Given the description of an element on the screen output the (x, y) to click on. 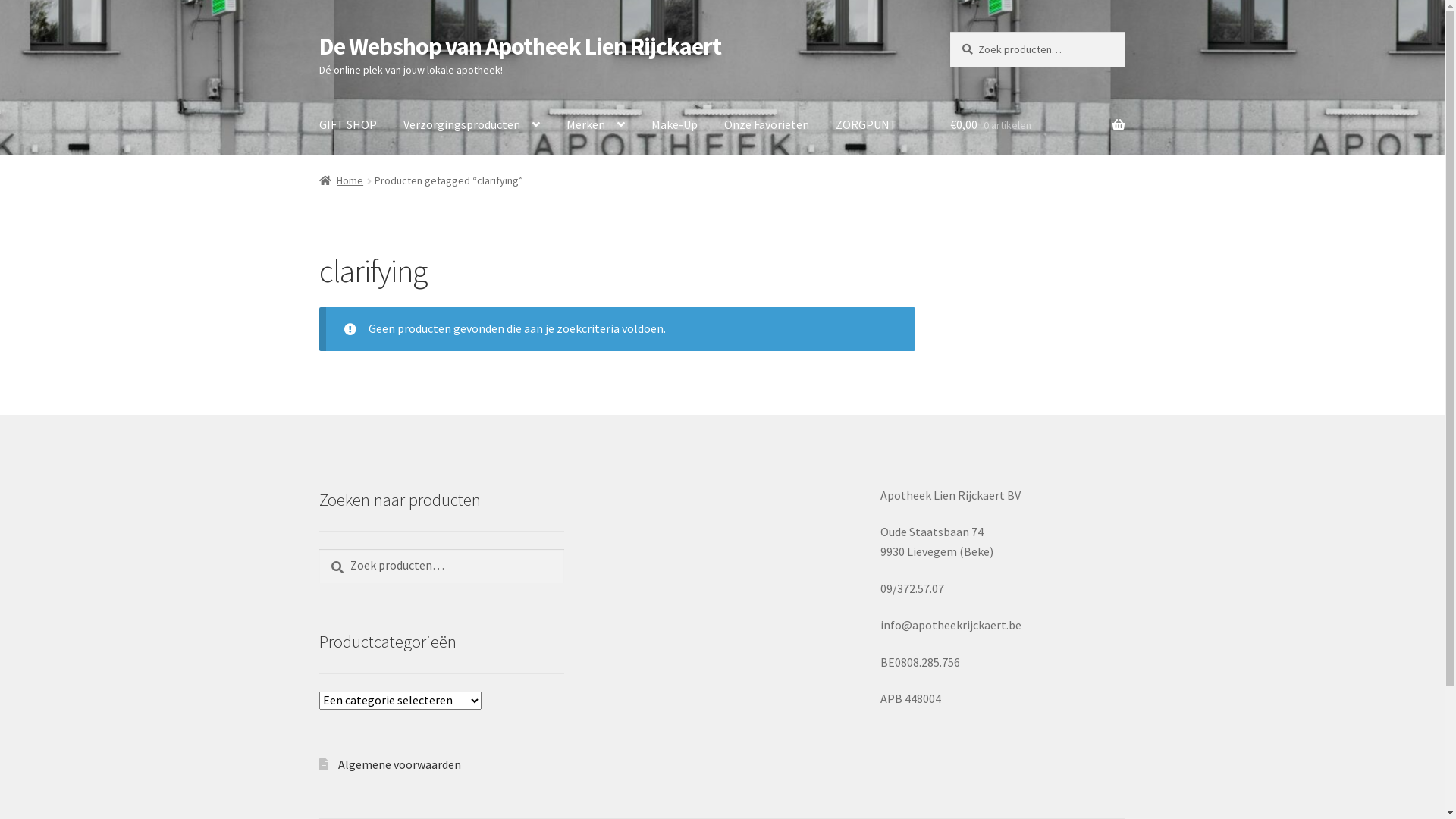
De Webshop van Apotheek Lien Rijckaert Element type: text (520, 46)
Onze Favorieten Element type: text (766, 124)
Make-Up Element type: text (674, 124)
Ga door naar navigatie Element type: text (318, 31)
GIFT SHOP Element type: text (348, 124)
Home Element type: text (341, 180)
Verzorgingsproducten Element type: text (471, 124)
Algemene voorwaarden Element type: text (399, 763)
Merken Element type: text (595, 124)
Zoeken Element type: text (318, 548)
ZORGPUNT Element type: text (866, 124)
Zoeken Element type: text (949, 31)
